Given the description of an element on the screen output the (x, y) to click on. 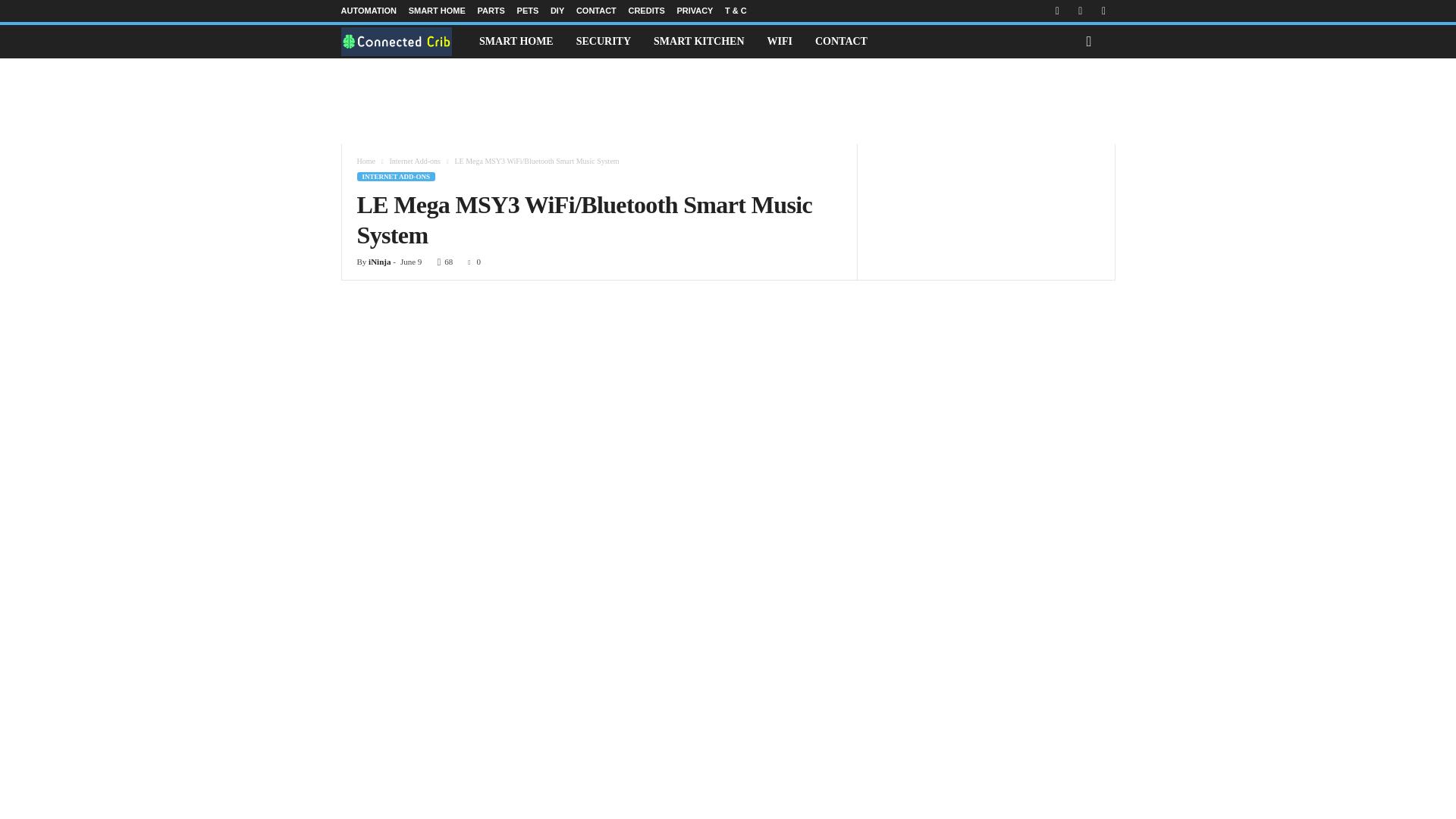
DIY (557, 10)
CONTACT (595, 10)
SMART HOME (515, 41)
PETS (527, 10)
CREDITS (645, 10)
PRIVACY (695, 10)
PARTS (490, 10)
AUTOMATION (368, 10)
SMART HOME (437, 10)
Connected Crib (404, 41)
